Given the description of an element on the screen output the (x, y) to click on. 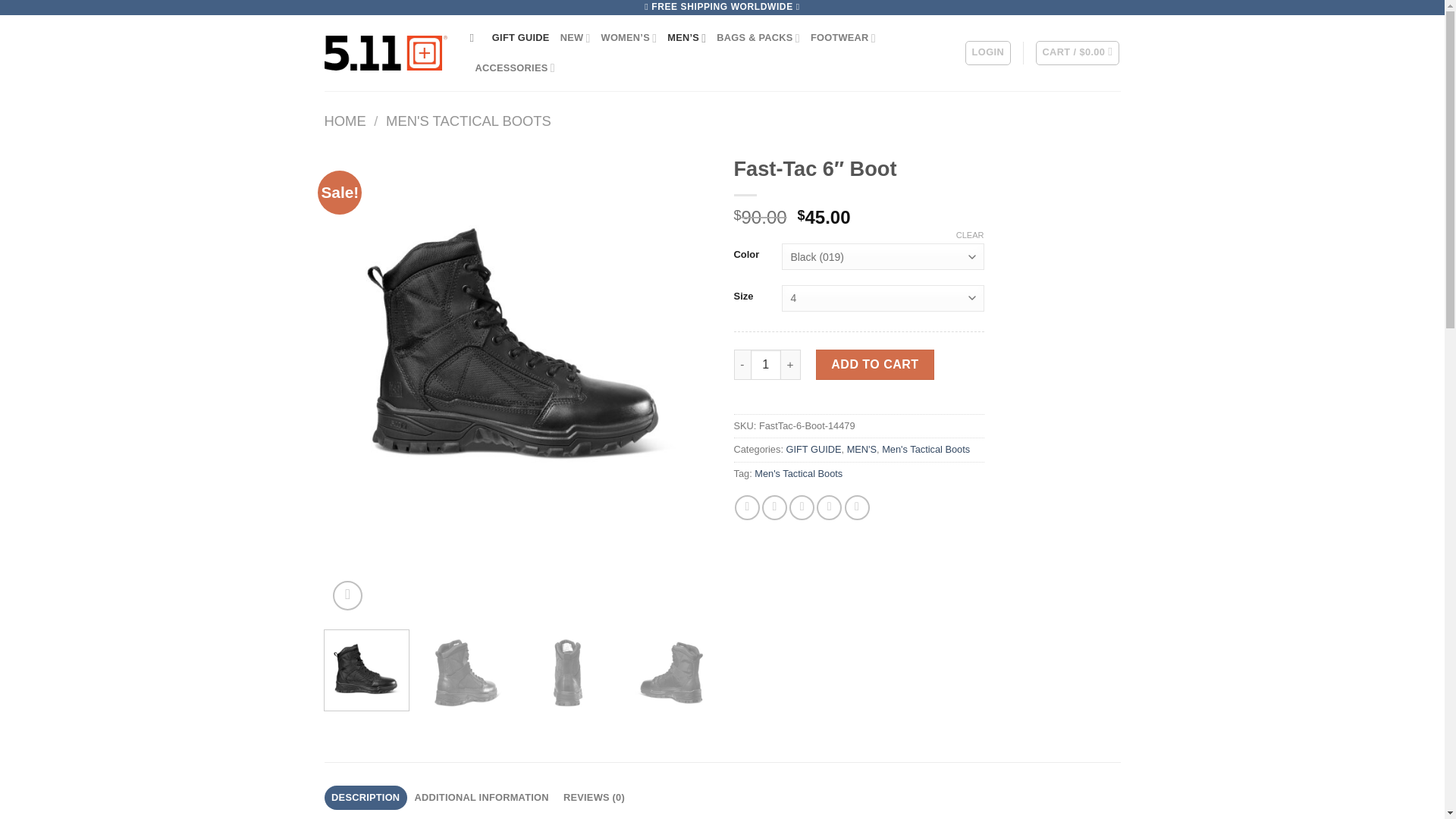
Zoom (347, 595)
Share on Facebook (747, 507)
Cart (1077, 52)
FOOTWEAR (843, 38)
1 (765, 364)
NEW (575, 38)
ACCESSORIES (514, 67)
GIFT GUIDE (521, 37)
Share on Twitter (774, 507)
CHUYEN511TACTICAL (385, 53)
